Given the description of an element on the screen output the (x, y) to click on. 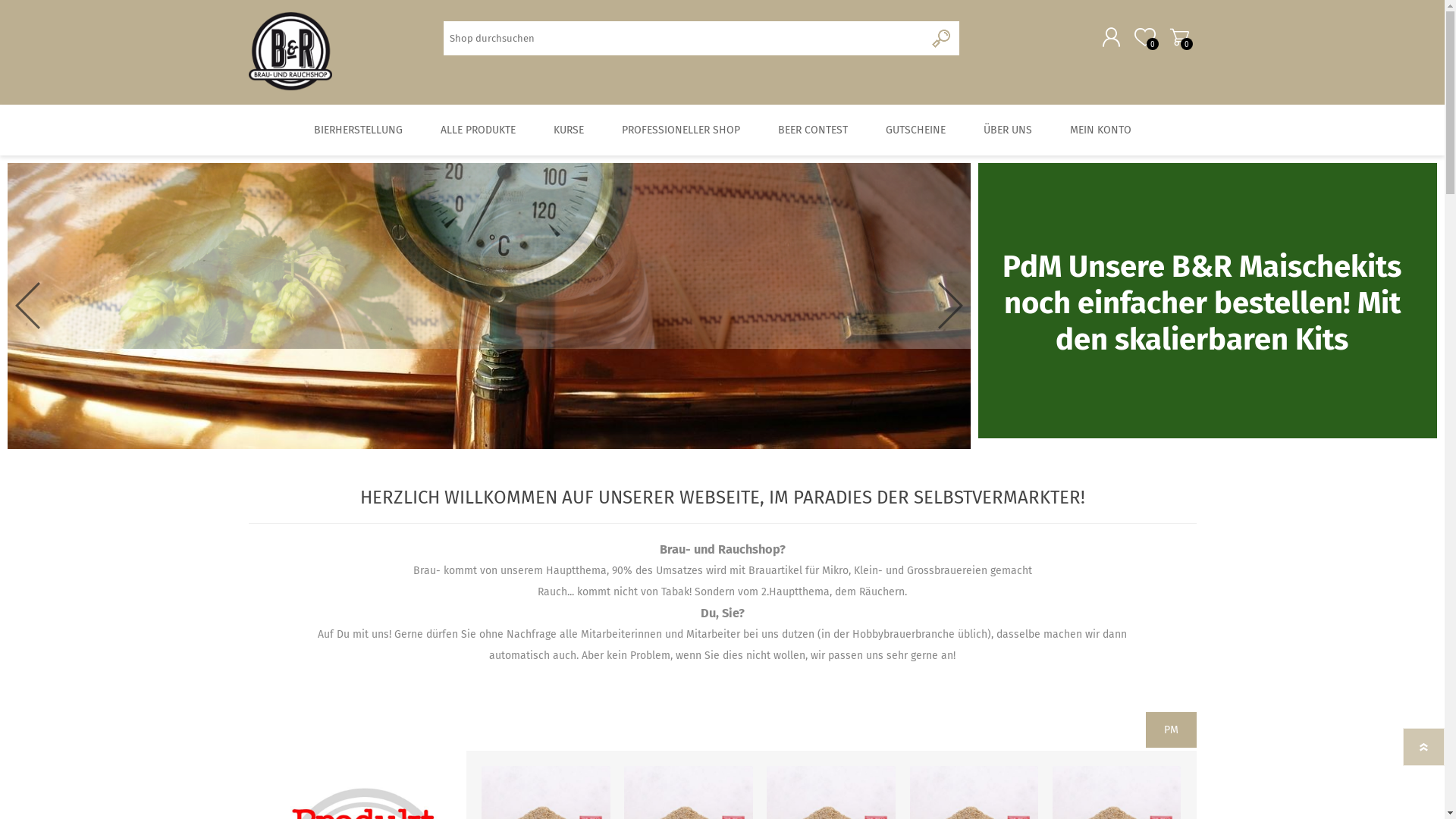
Wunschliste
0 Element type: text (1145, 36)
Suchen Element type: text (942, 38)
PdM Element type: text (1031, 266)
PROFESSIONELLER SHOP Element type: text (680, 129)
MEIN KONTO Element type: text (1100, 129)
BEER CONTEST Element type: text (812, 129)
GUTSCHEINE Element type: text (914, 129)
Warenkorb Element type: text (1178, 36)
KURSE Element type: text (567, 129)
BIERHERSTELLUNG Element type: text (357, 129)
Prev Element type: text (27, 305)
Next Element type: text (950, 305)
